Given the description of an element on the screen output the (x, y) to click on. 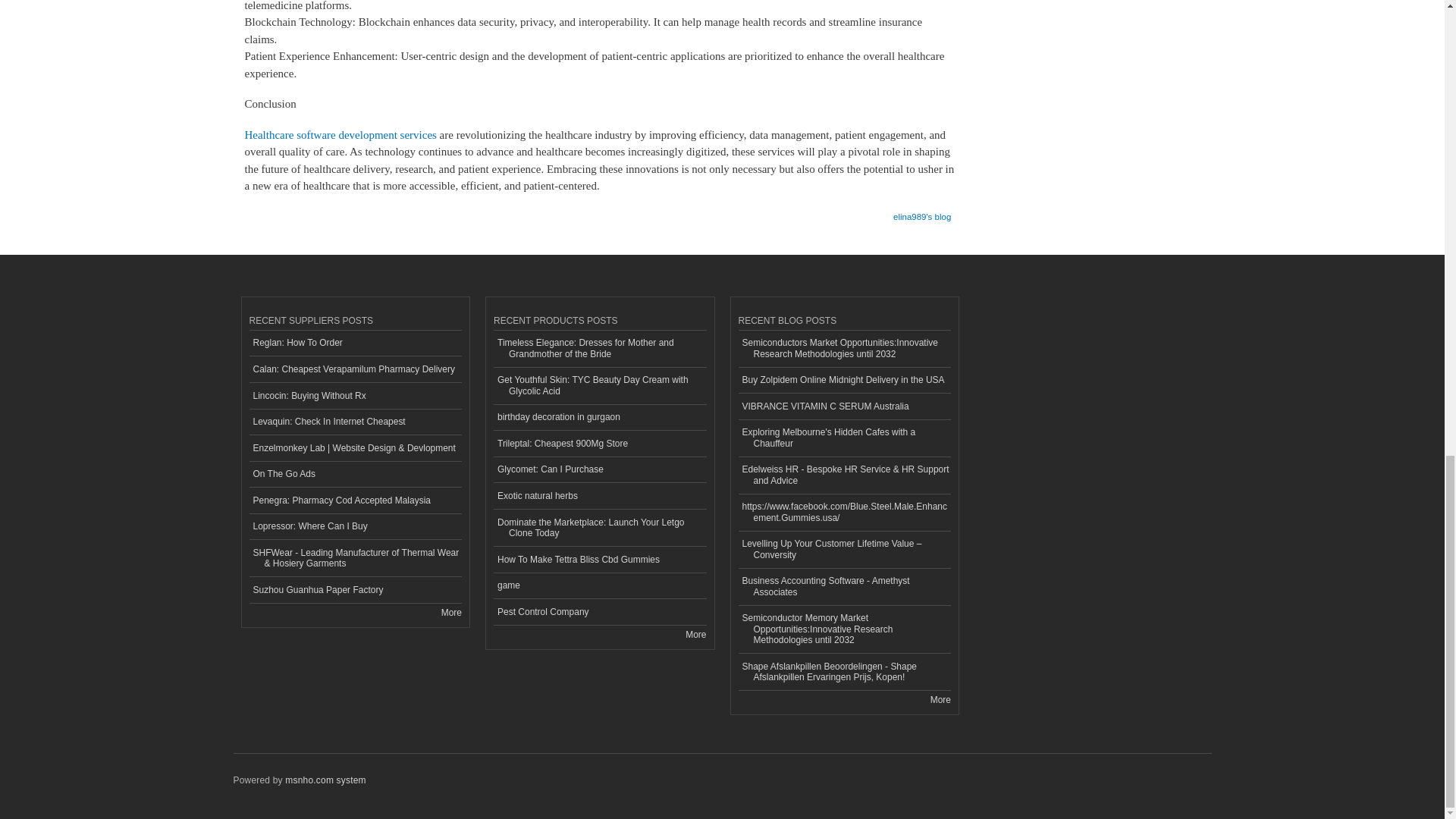
elina989's blog (921, 212)
Trileptal: Cheapest 900Mg Store (599, 443)
On The Go Ads (354, 474)
Glycomet: Can I Purchase (599, 470)
Reglan: How To Order (354, 343)
Read the latest products entries. (695, 634)
Exotic natural herbs (599, 496)
Healthcare software development services (339, 134)
Lincocin: Buying Without Rx (354, 396)
Read the latest blog entries. (940, 699)
birthday decoration in gurgaon (599, 417)
Levaquin: Check In Internet Cheapest (354, 421)
Calan: Cheapest Verapamilum Pharmacy Delivery (354, 369)
Read the latest suppliers entries. (451, 612)
